Given the description of an element on the screen output the (x, y) to click on. 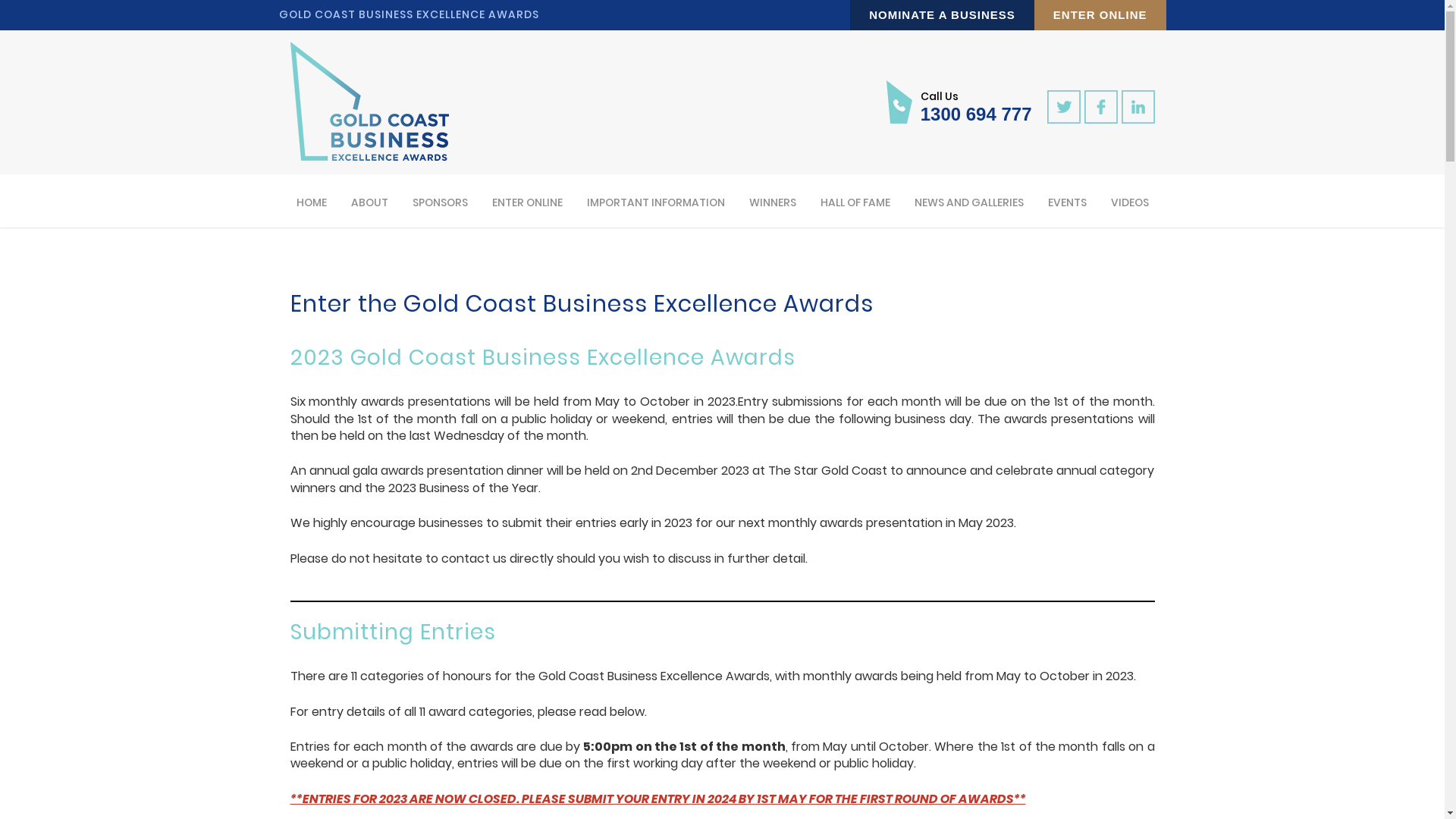
ABOUT Element type: text (369, 200)
Call Us
1300 694 777 Element type: text (959, 101)
NEWS AND GALLERIES Element type: text (968, 200)
linkedin Element type: text (1137, 106)
VIDEOS Element type: text (1129, 200)
HALL OF FAME Element type: text (854, 200)
WINNERS Element type: text (771, 200)
ENTER ONLINE Element type: text (527, 200)
ENTER ONLINE Element type: text (1100, 15)
NOMINATE A BUSINESS Element type: text (942, 15)
SPONSORS Element type: text (439, 200)
IMPORTANT INFORMATION Element type: text (654, 200)
HOME Element type: text (311, 200)
EVENTS Element type: text (1066, 200)
facebook Element type: text (1100, 106)
twitter Element type: text (1062, 106)
